Given the description of an element on the screen output the (x, y) to click on. 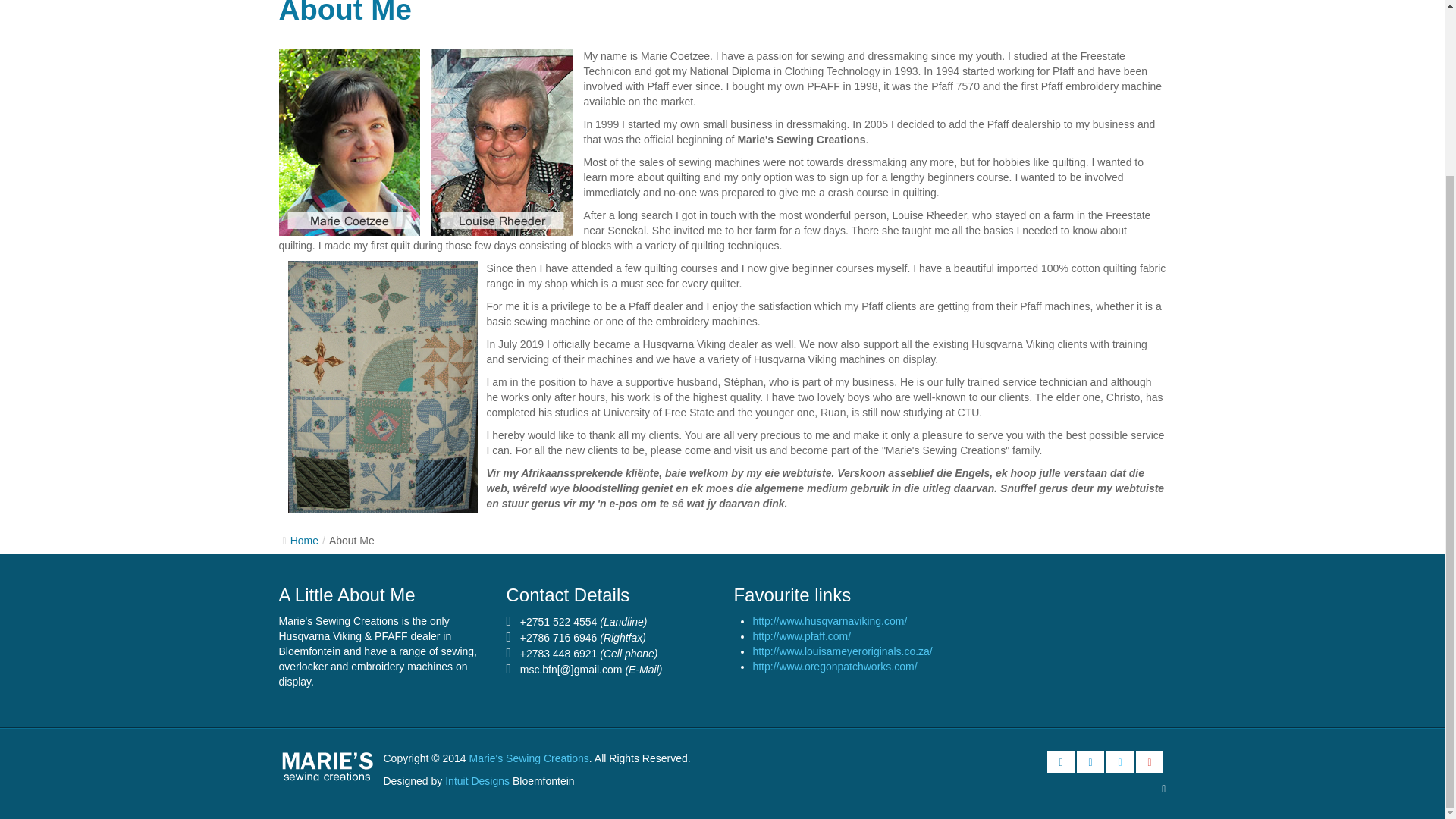
International PFAFF website (801, 635)
Marie's Sewing Creations (528, 758)
Marie's Sewing Creations Bloemfontein (331, 766)
Home (303, 540)
About Me (345, 12)
Intuit Designs - Website design Bloemfontein - 0828255873 (477, 780)
Intuit Designs (477, 780)
Louise Meyer Originals (841, 651)
